Given the description of an element on the screen output the (x, y) to click on. 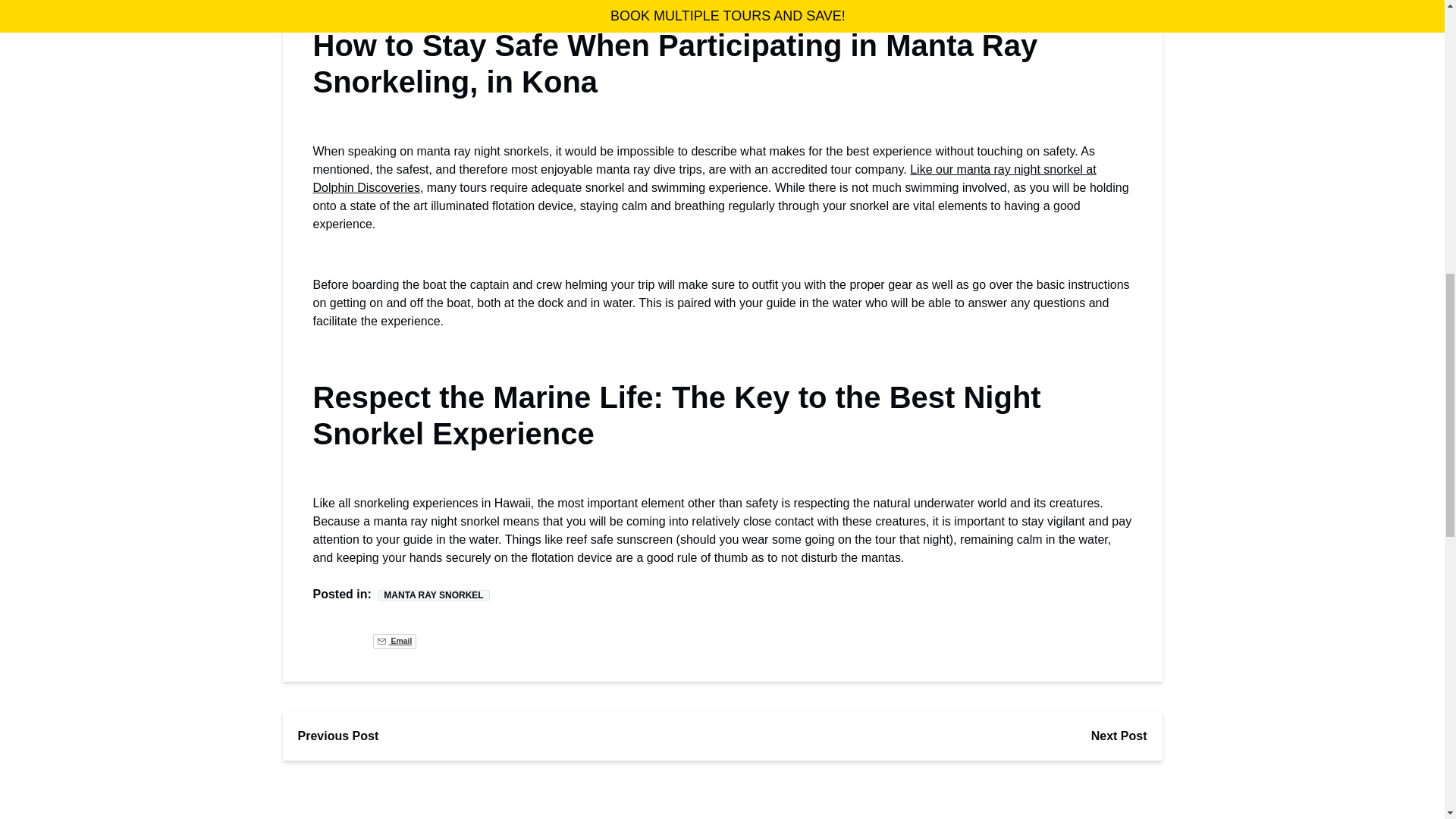
Next Post (1118, 735)
Email (394, 641)
Like our manta ray night snorkel at Dolphin Discoveries (704, 178)
MANTA RAY SNORKEL (433, 594)
Previous Post (337, 735)
